Given the description of an element on the screen output the (x, y) to click on. 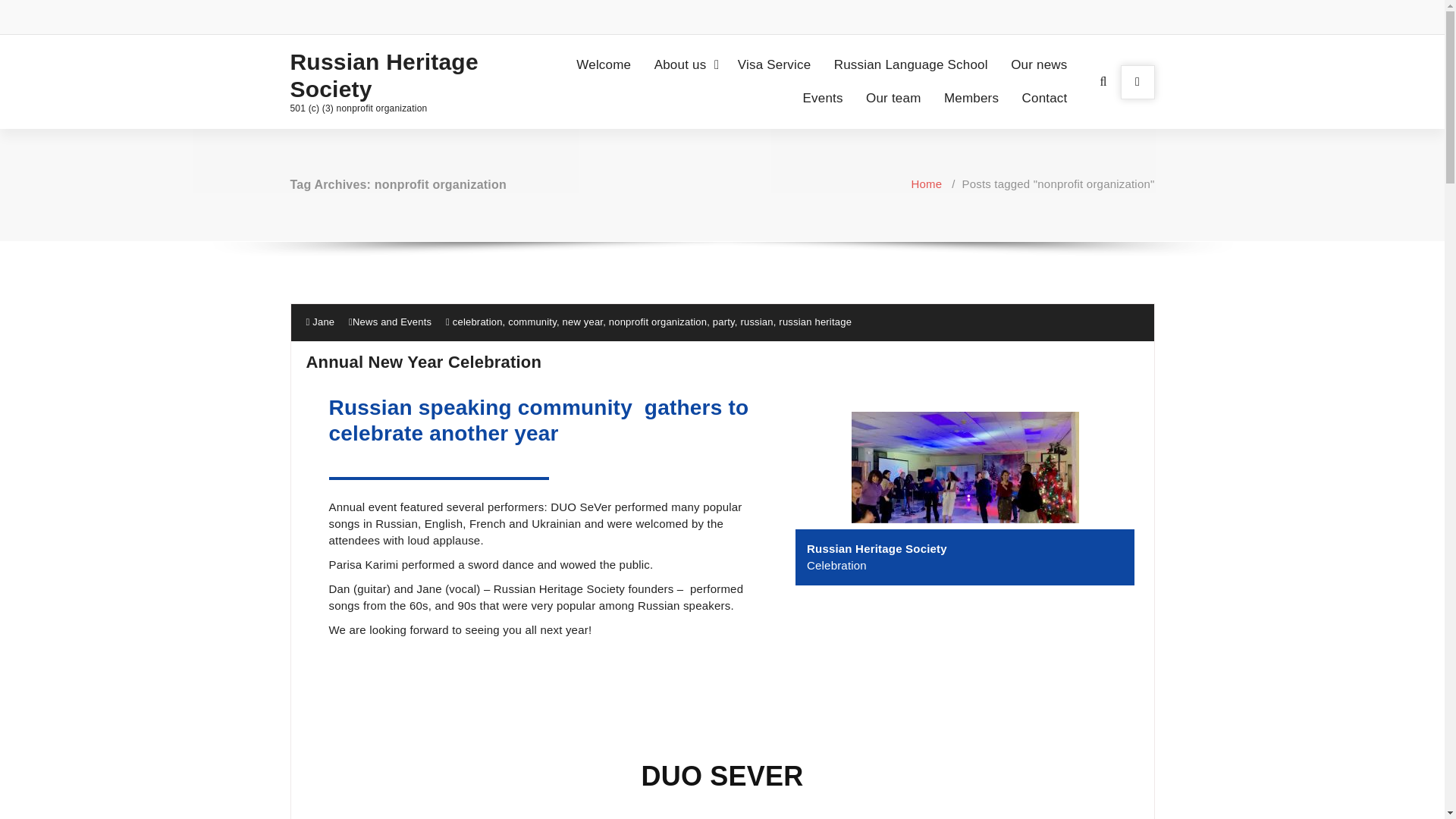
Events (822, 98)
Our news (1038, 64)
Jane (319, 321)
Visa Service (774, 64)
Contact (1044, 98)
Welcome (604, 64)
Members (971, 98)
About us (684, 64)
News and Events (391, 321)
Home (926, 183)
Russian Language School (911, 64)
Russian Heritage Society (389, 75)
Our team (893, 98)
